Given the description of an element on the screen output the (x, y) to click on. 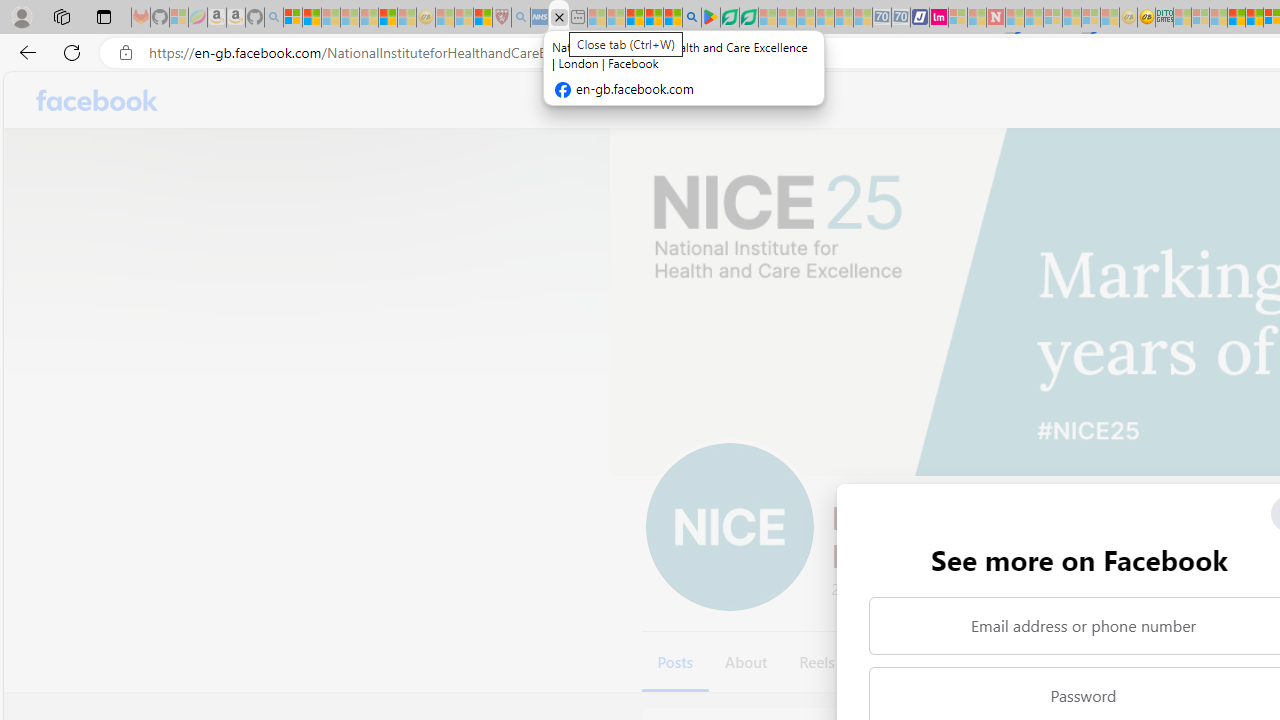
Kinda Frugal - MSN (1254, 17)
Facebook (97, 99)
Microsoft Word - consumer-privacy address update 2.2021 (748, 17)
Facebook (97, 99)
